Given the description of an element on the screen output the (x, y) to click on. 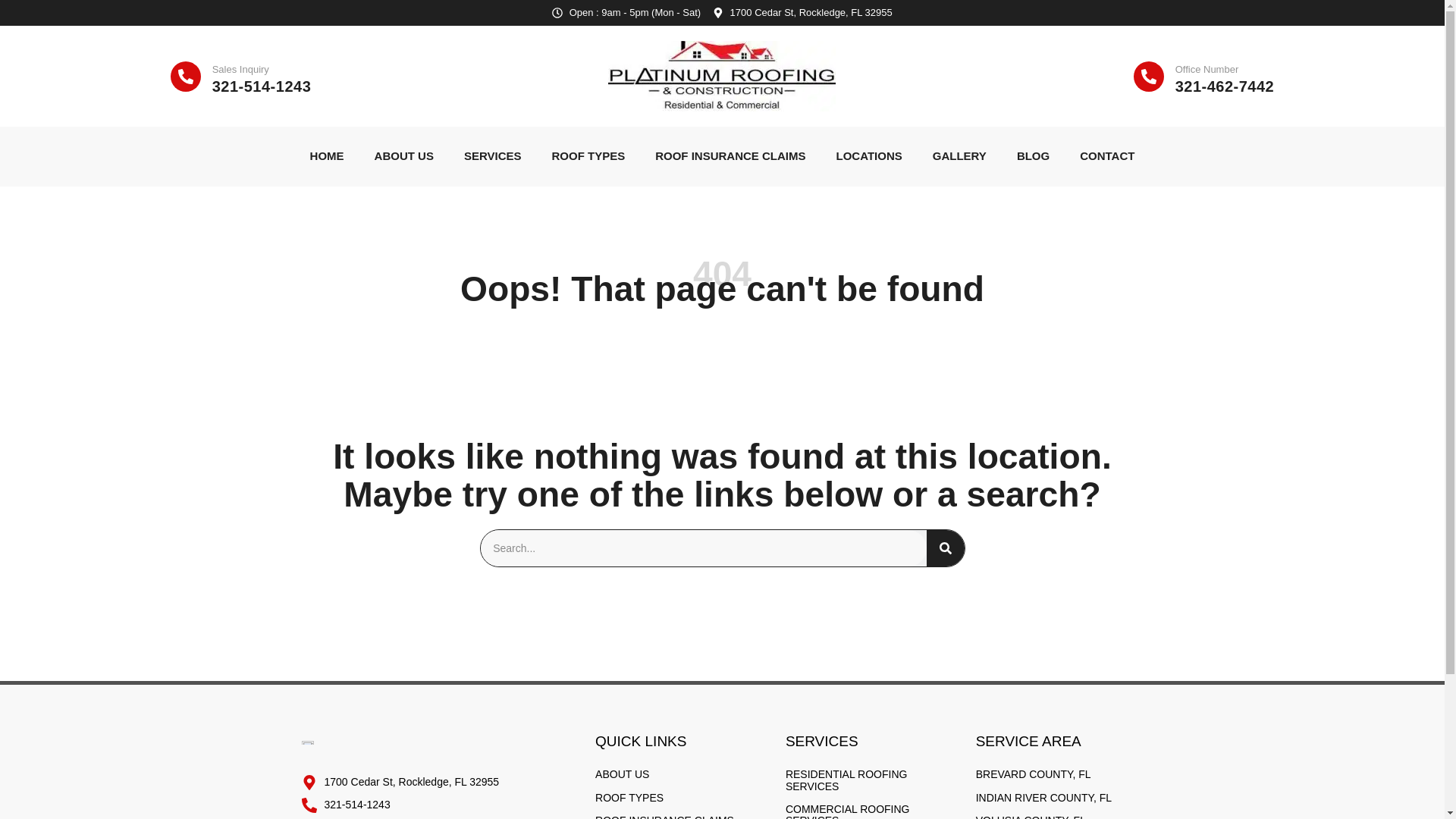
SERVICES (492, 156)
GALLERY (959, 156)
Office Number (1206, 69)
LOCATIONS (869, 156)
CONTACT (1107, 156)
ROOF INSURANCE CLAIMS (730, 156)
HOME (327, 156)
1700 Cedar St, Rockledge, FL 32955 (802, 12)
ROOF TYPES (588, 156)
BLOG (1032, 156)
Sales Inquiry (240, 69)
ABOUT US (403, 156)
